Given the description of an element on the screen output the (x, y) to click on. 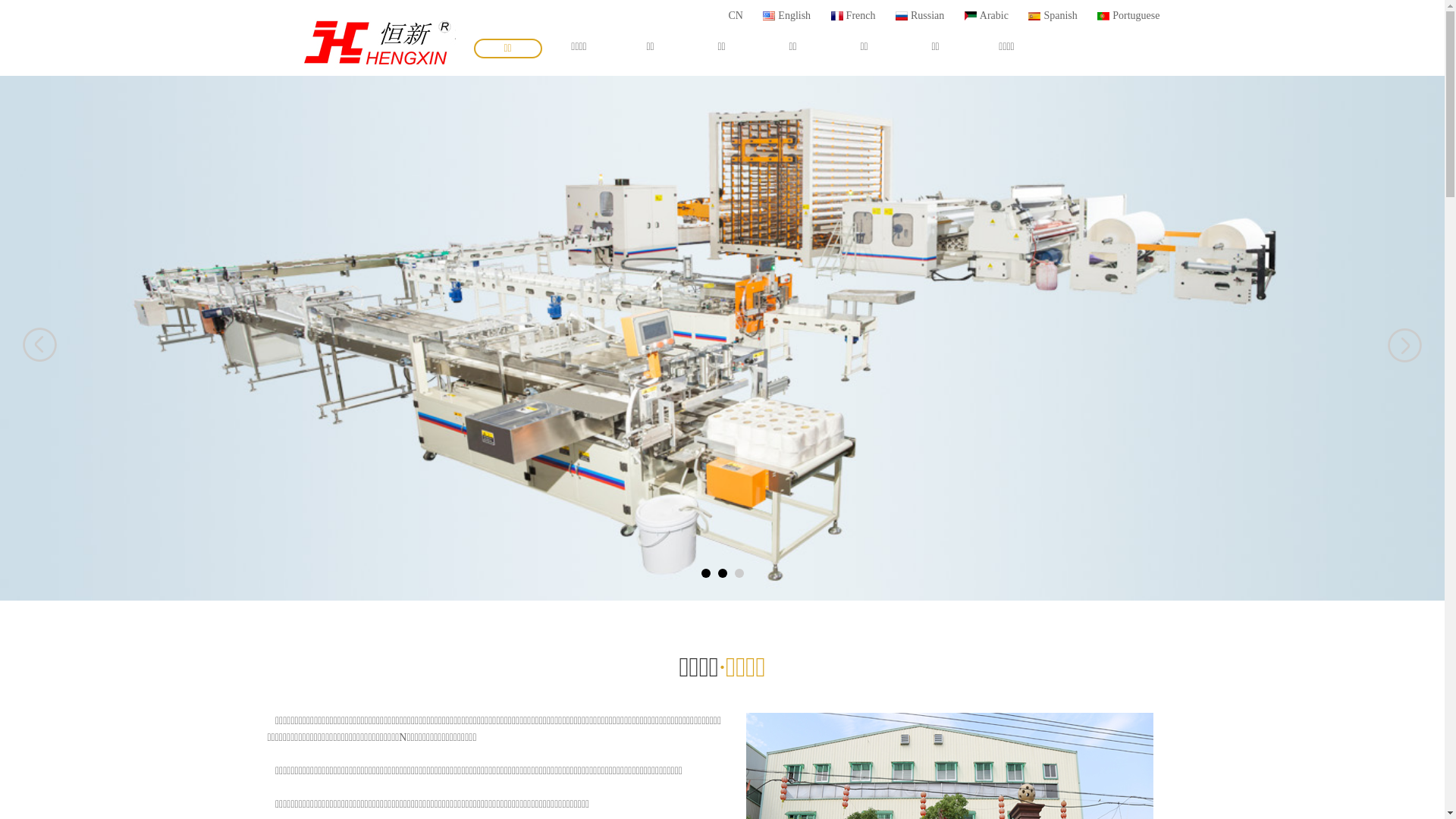
French Element type: text (862, 15)
English Element type: text (795, 15)
Portuguese Element type: text (1136, 15)
Russian Element type: text (928, 15)
Arabic Element type: text (995, 15)
CN Element type: text (735, 15)
Spanish Element type: text (1061, 15)
